Given the description of an element on the screen output the (x, y) to click on. 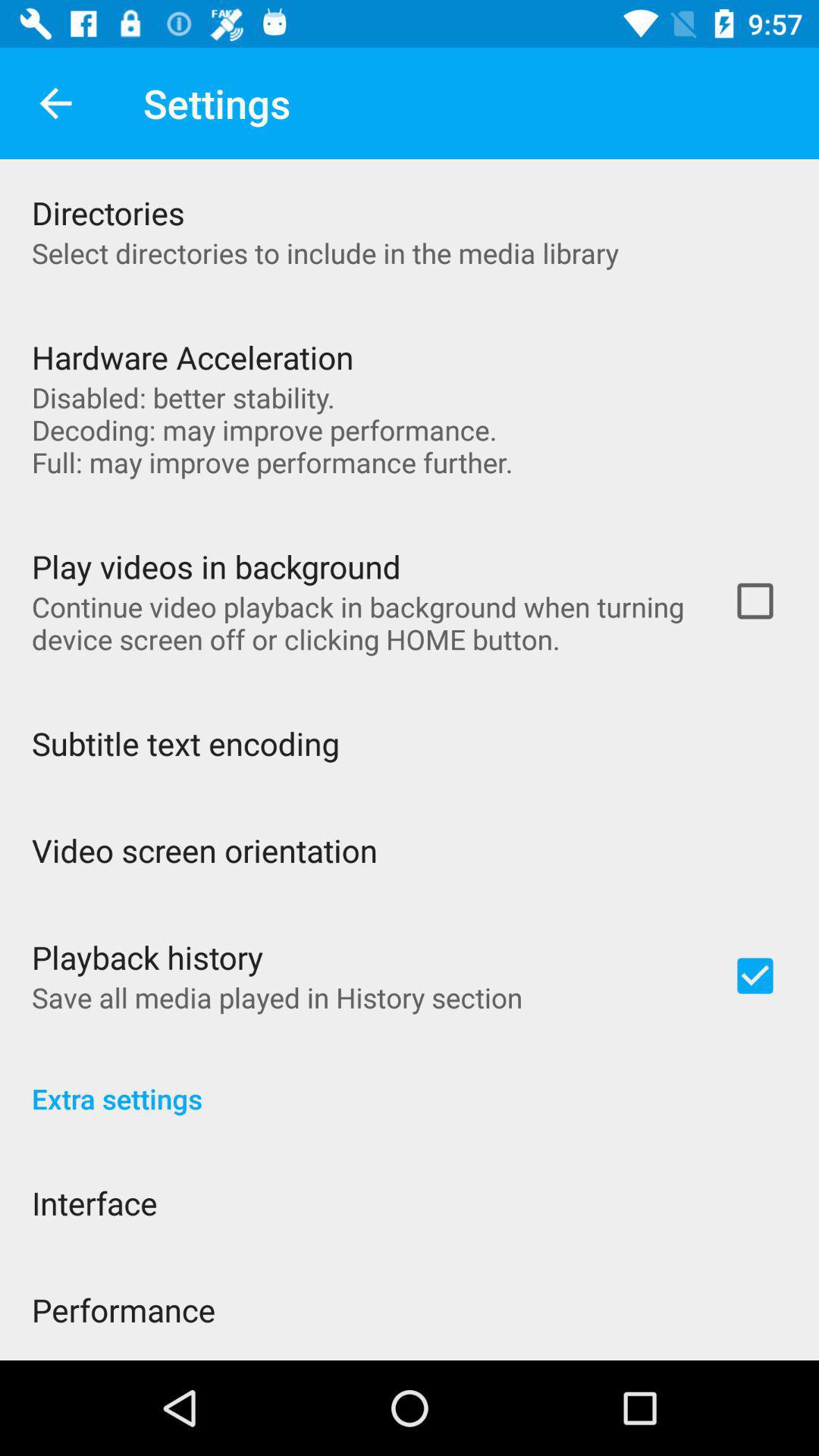
select the item above the interface item (409, 1082)
